Given the description of an element on the screen output the (x, y) to click on. 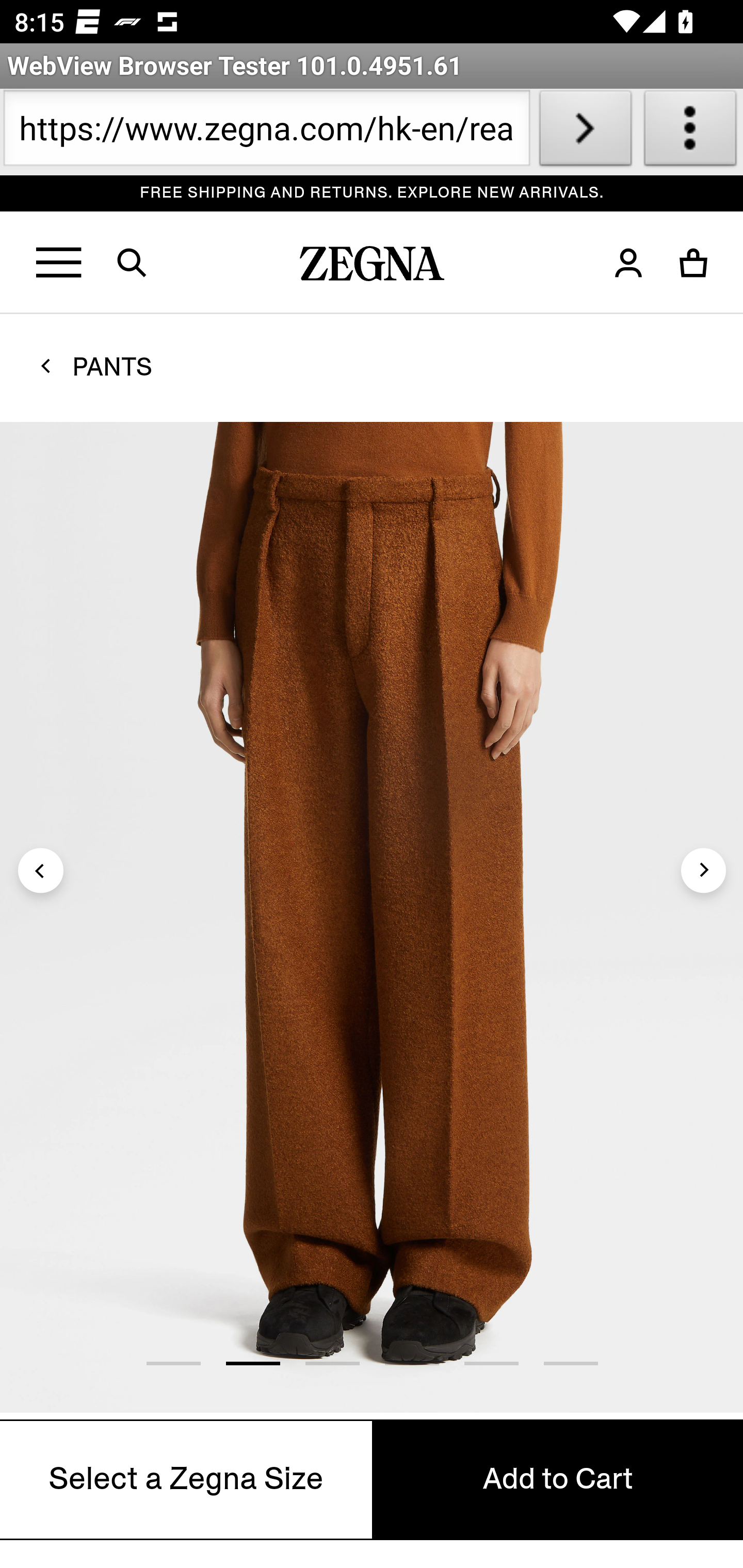
Load URL (585, 132)
About WebView (690, 132)
FREE SHIPPING AND RETURNS. EXPLORE NEW ARRIVALS. (372, 192)
Search (144, 263)
Open Website Menu  (59, 262)
Zegna Homepage (372, 267)
Account Access  (628, 262)
Open Cart Empty  (694, 262)
PANTS (112, 366)
Previous slide (41, 869)
Next slide (703, 869)
Go to slide 1 (173, 1363)
Go to slide 2 (252, 1363)
Go to slide 3 (332, 1363)
Go to slide 4 (411, 1363)
Go to slide 5 (491, 1363)
Go to slide 6 (570, 1363)
Select a Zegna Size (186, 1479)
Add to Cart  (557, 1479)
